Given the description of an element on the screen output the (x, y) to click on. 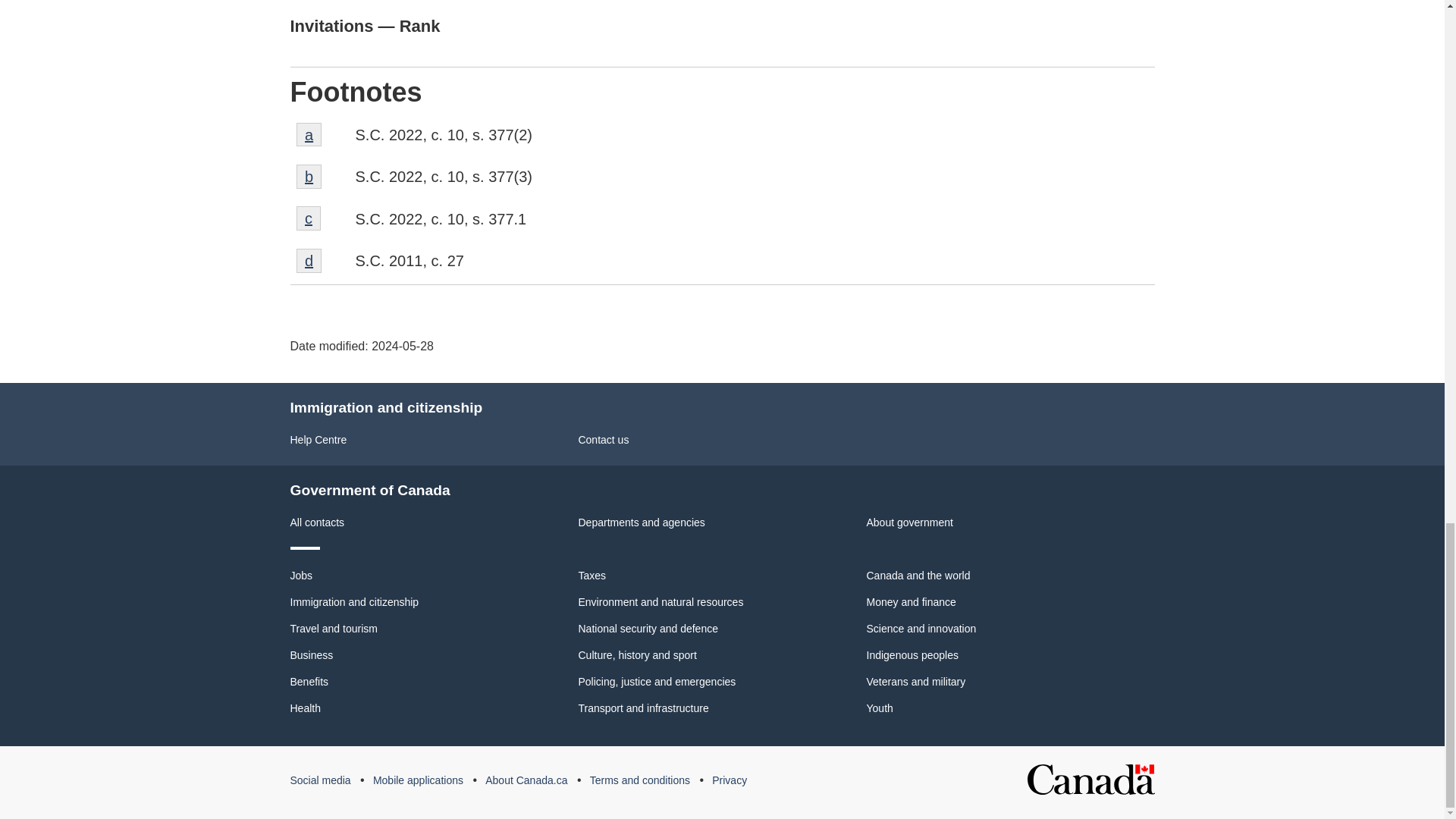
Departments and agencies (641, 522)
About government (909, 522)
Jobs (309, 176)
Contact us (301, 575)
Help Centre (603, 439)
All contacts (317, 439)
